Given the description of an element on the screen output the (x, y) to click on. 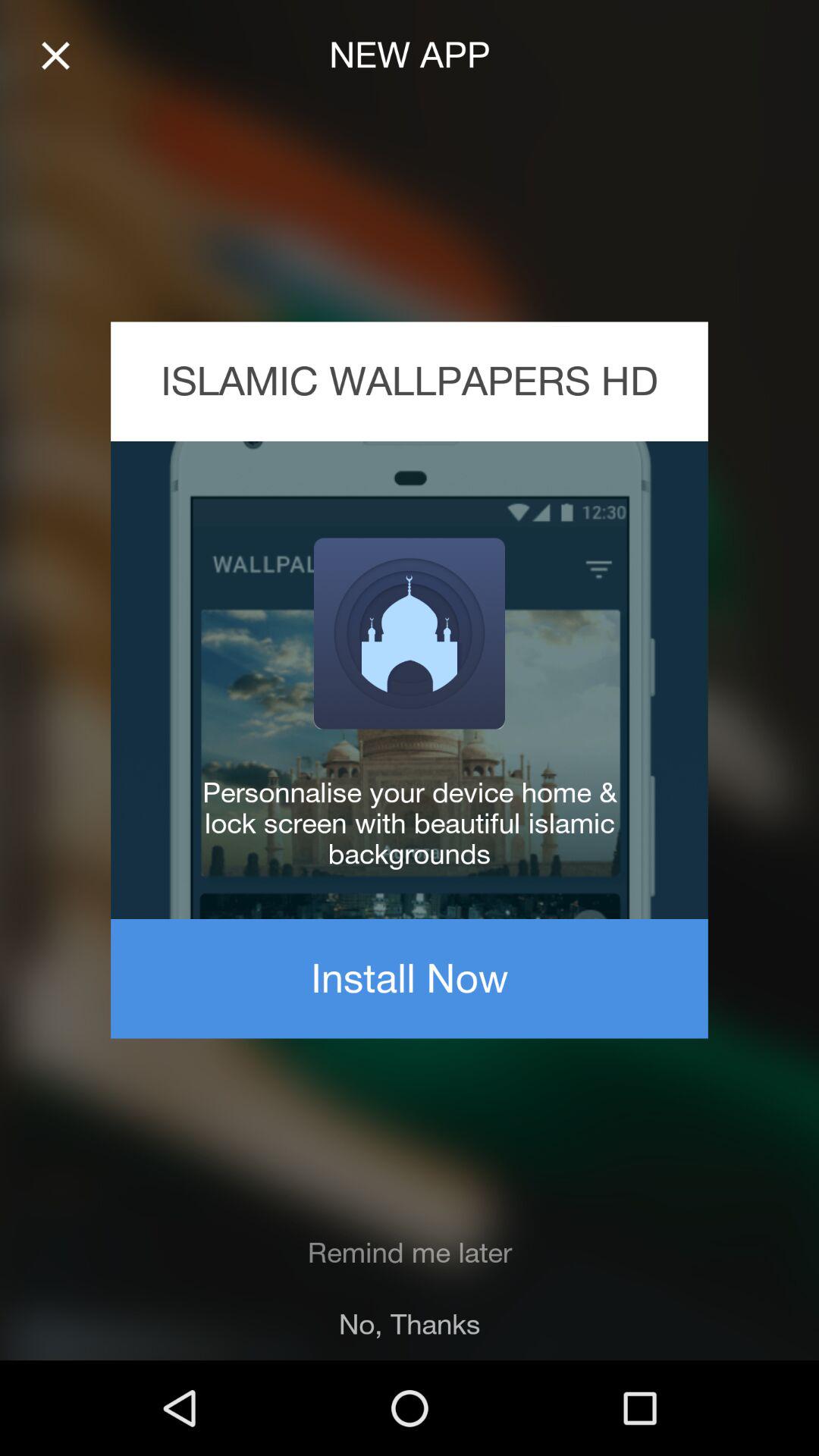
scroll until the remind me later item (409, 1252)
